Given the description of an element on the screen output the (x, y) to click on. 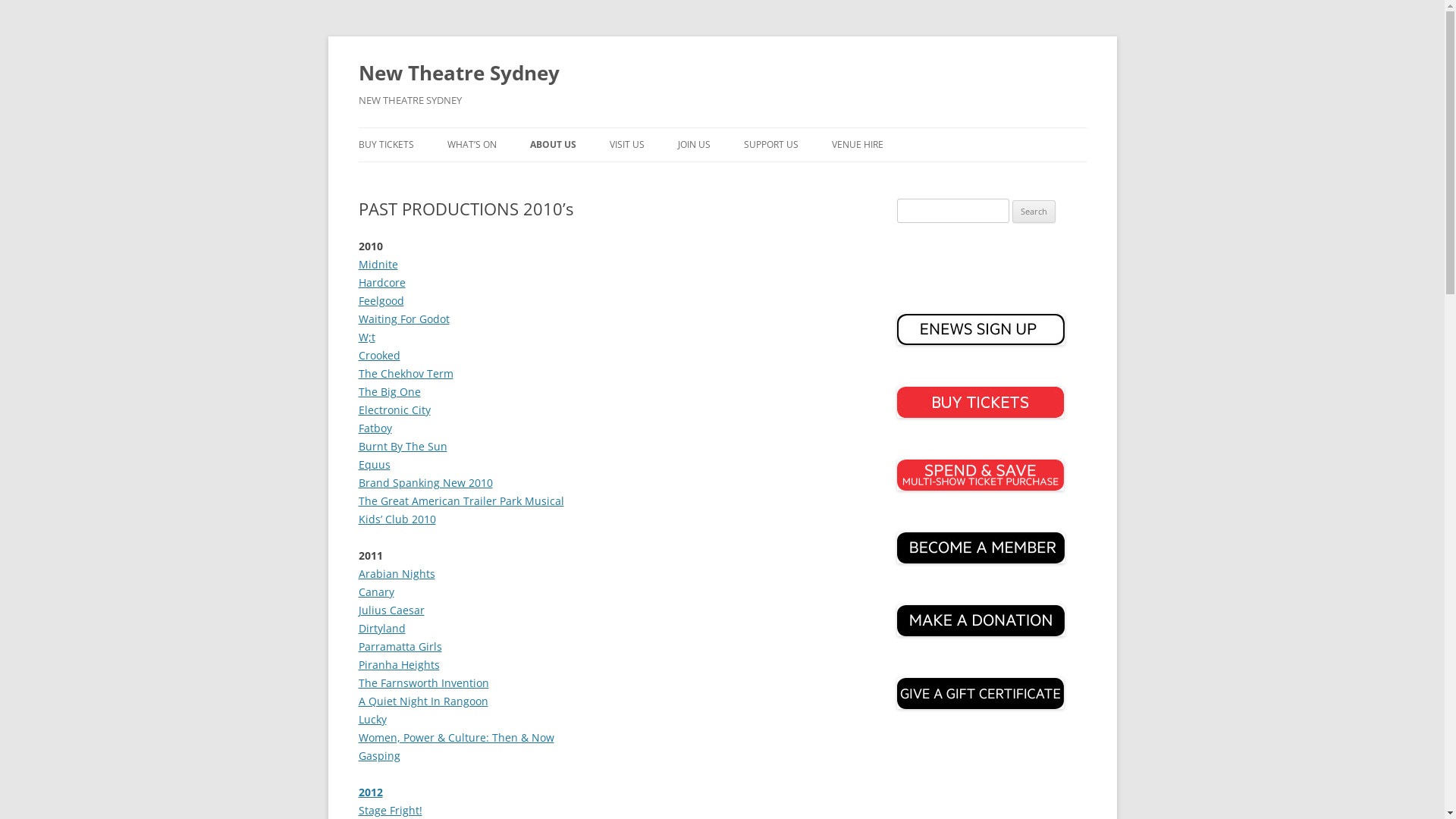
SUPPORT US Element type: text (770, 144)
Gasping Element type: text (378, 755)
Dirtyland Element type: text (380, 628)
2012 Element type: text (369, 791)
VISIT US Element type: text (626, 144)
The Big One Element type: text (388, 391)
Piranha Heights Element type: text (398, 664)
Canary Element type: text (375, 591)
Electronic City Element type: text (393, 409)
JOIN US Element type: text (693, 144)
Waiting For Godot Element type: text (402, 318)
The Farnsworth Invention Element type: text (422, 682)
VENUE HIRE Element type: text (856, 144)
Skip to content Element type: text (721, 127)
Burnt By The Sun Element type: text (401, 446)
New Theatre Sydney Element type: text (457, 72)
Stage Fright! Element type: text (389, 810)
Crooked Element type: text (378, 355)
Julius Caesar Element type: text (390, 609)
Search Element type: text (1033, 211)
A Quiet Night In Rangoon Element type: text (422, 700)
Equus Element type: text (373, 464)
Hardcore Element type: text (380, 282)
The Great American Trailer Park Musical Element type: text (460, 500)
Arabian Nights Element type: text (395, 573)
FRONT OF HOUSE Element type: text (753, 176)
The Chekhov Term Element type: text (404, 373)
Women, Power & Culture: Then & Now Element type: text (455, 737)
Midnite Element type: text (377, 264)
BUY TICKETS Element type: text (385, 144)
STAFF Element type: text (604, 176)
TICKET INFORMATION Element type: text (685, 176)
Feelgood Element type: text (380, 300)
SEASON 2017 Element type: text (523, 176)
Brand Spanking New 2010 Element type: text (424, 482)
Lucky Element type: text (371, 719)
W;t Element type: text (365, 336)
ABOUT US Element type: text (552, 144)
Fatboy Element type: text (374, 427)
Parramatta Girls Element type: text (399, 646)
